Given the description of an element on the screen output the (x, y) to click on. 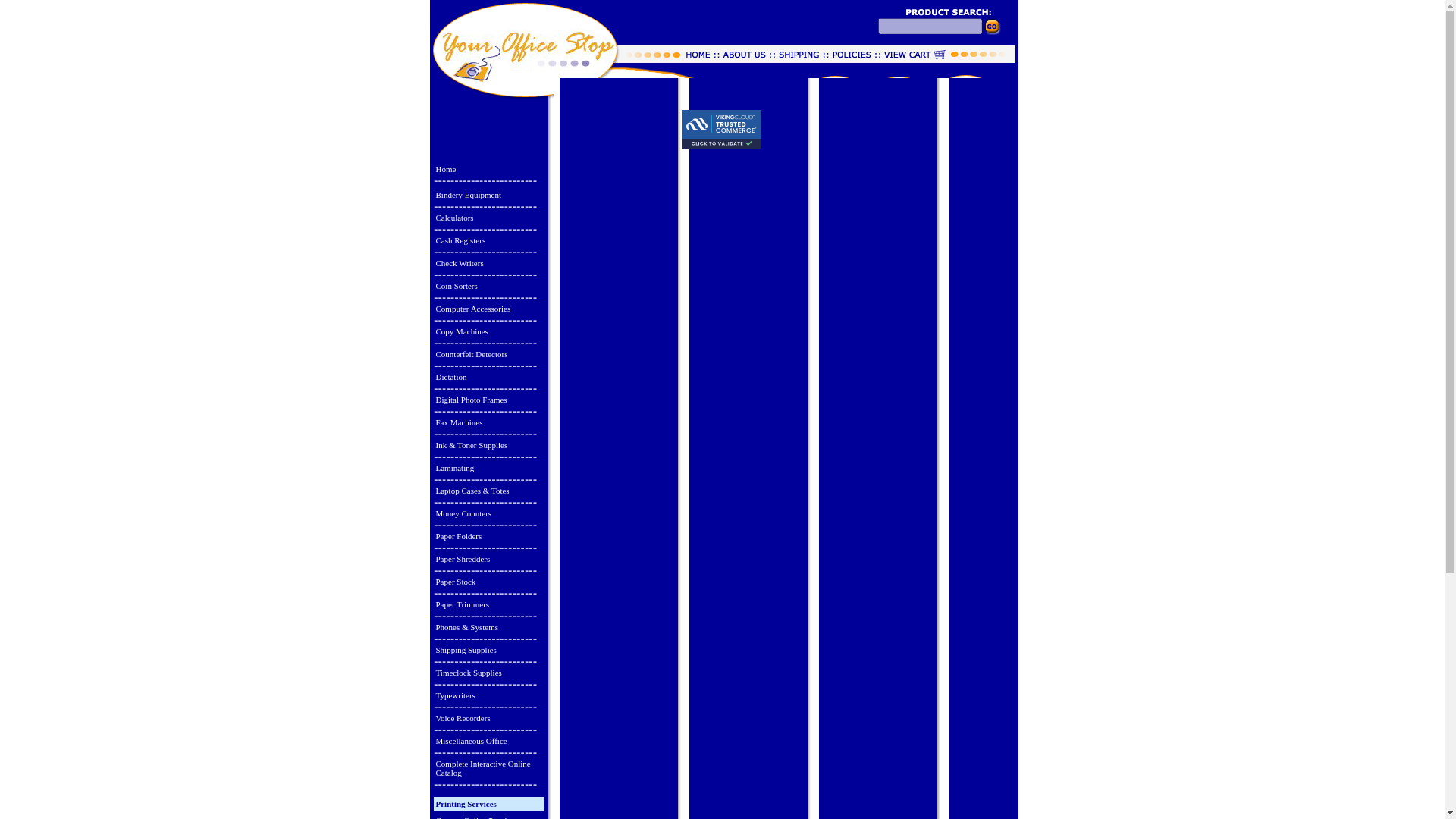
Digital Photo Frames (487, 399)
Calculators (487, 217)
Dictation (487, 376)
Cash Registers (487, 240)
Paper Shredders (487, 558)
Typewriters (487, 694)
Paper Trimmers (487, 604)
Counterfeit Detectors (487, 353)
Copy Machines (487, 331)
Custom Online Printing Services (487, 816)
